Given the description of an element on the screen output the (x, y) to click on. 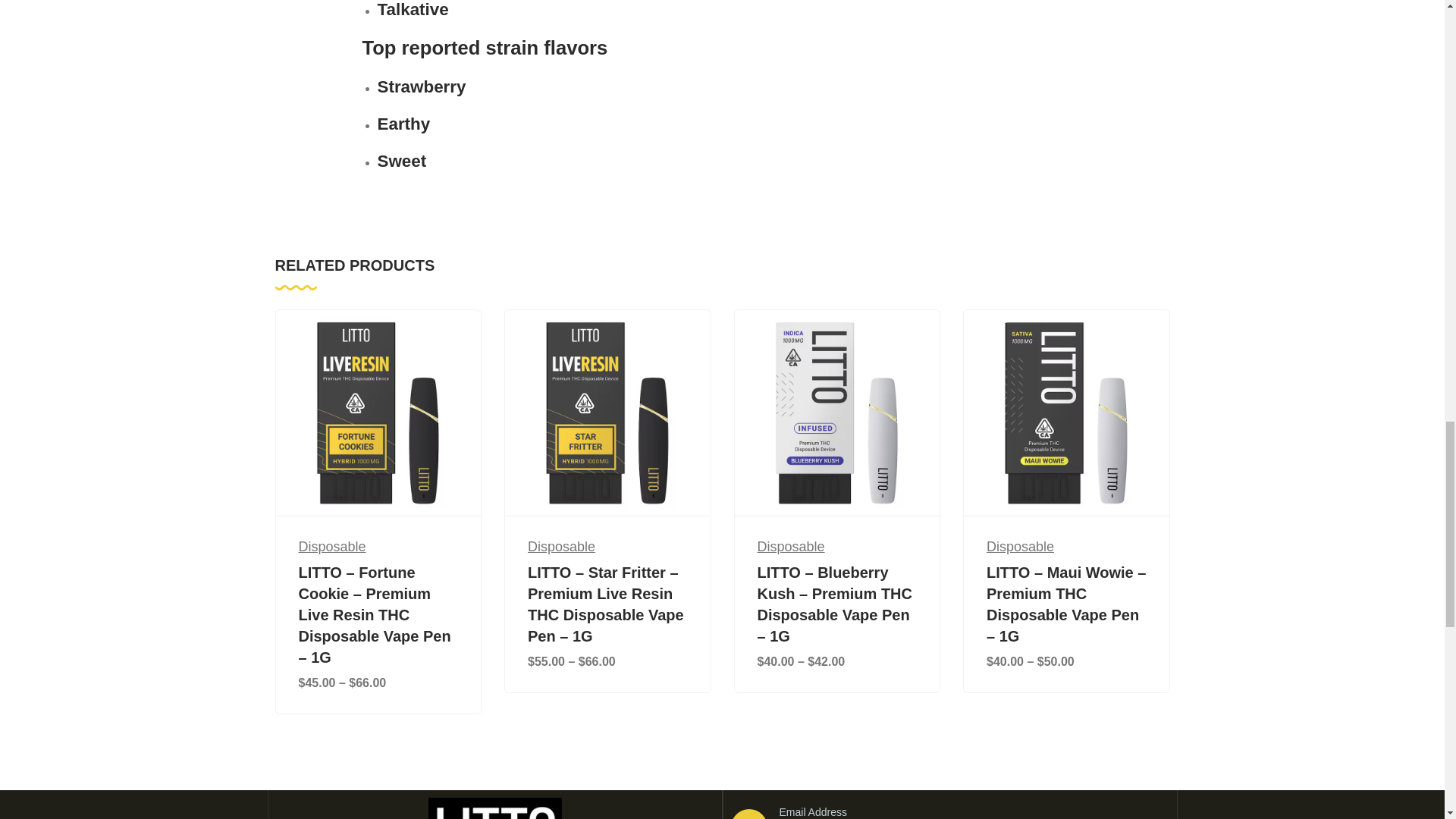
Home (494, 808)
